Given the description of an element on the screen output the (x, y) to click on. 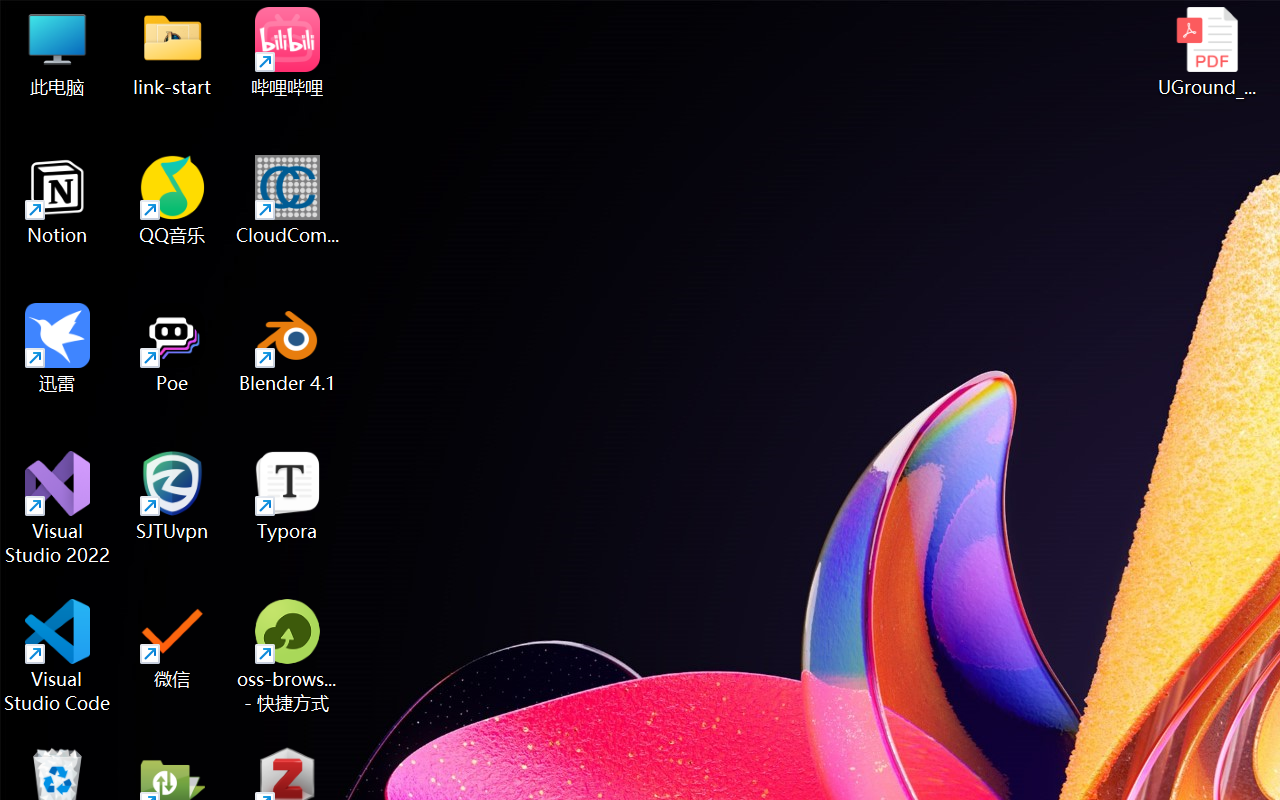
Typora (287, 496)
Visual Studio 2022 (57, 508)
UGround_paper.pdf (1206, 52)
Visual Studio Code (57, 656)
SJTUvpn (172, 496)
CloudCompare (287, 200)
Blender 4.1 (287, 348)
